Given the description of an element on the screen output the (x, y) to click on. 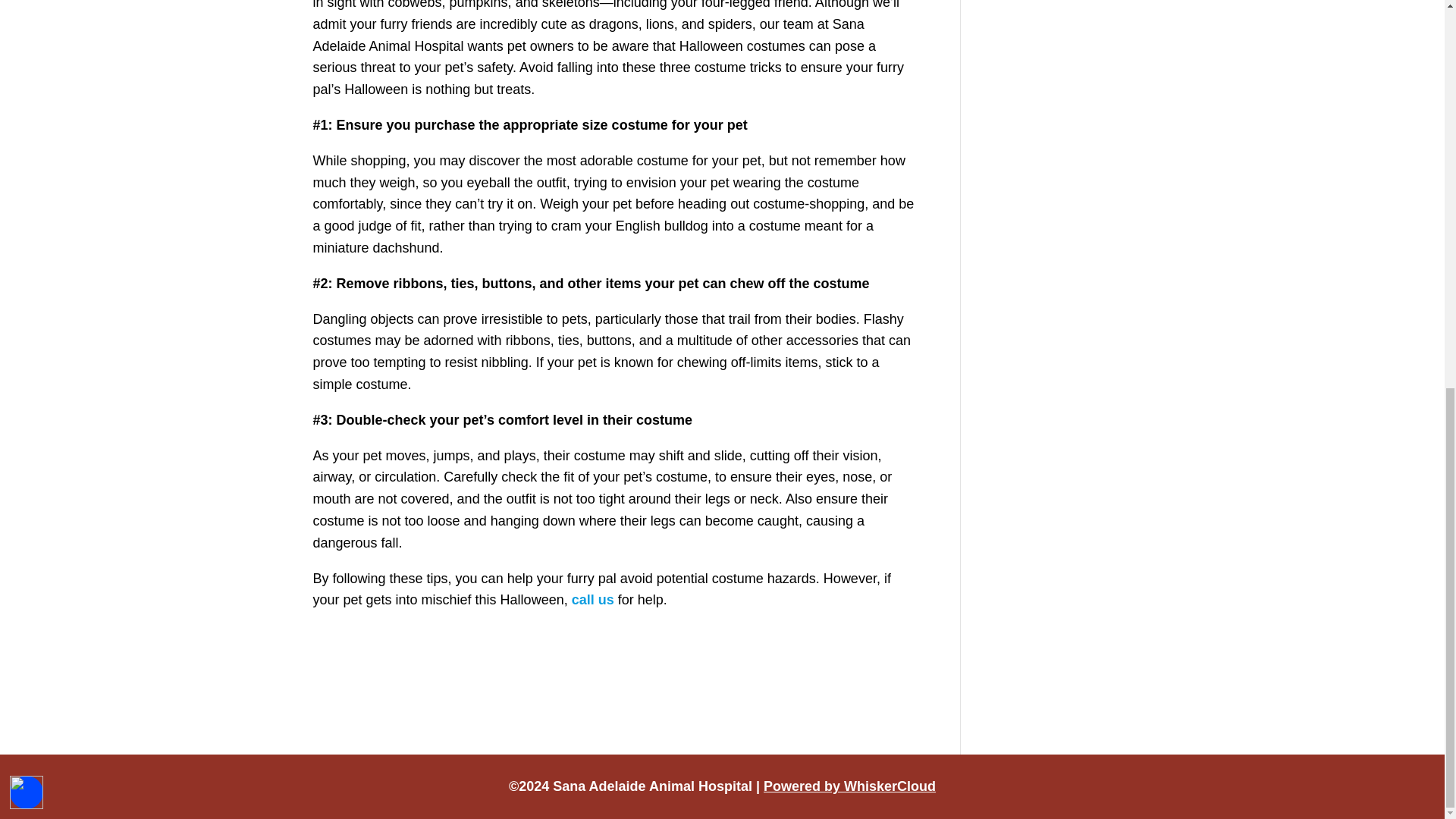
Accessibility Menu (26, 55)
